Given the description of an element on the screen output the (x, y) to click on. 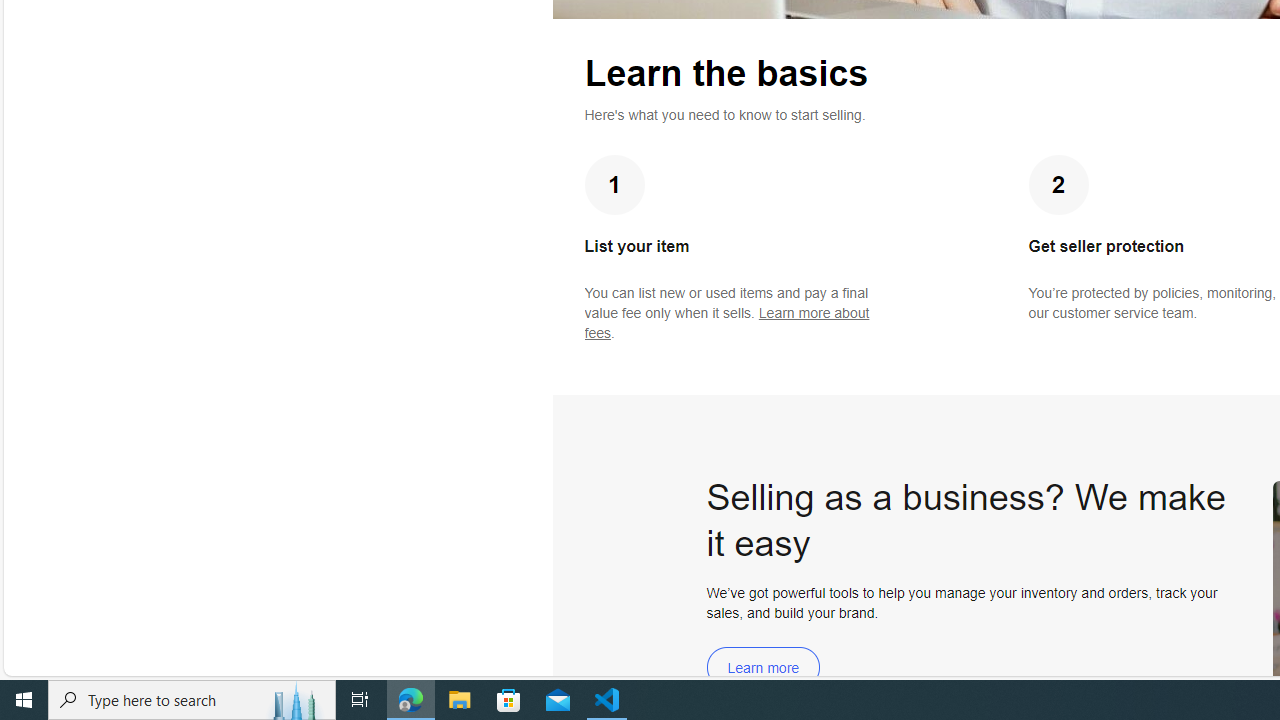
Learn more (763, 667)
Learn more about fees - opens in new window or tab. (726, 323)
